Given the description of an element on the screen output the (x, y) to click on. 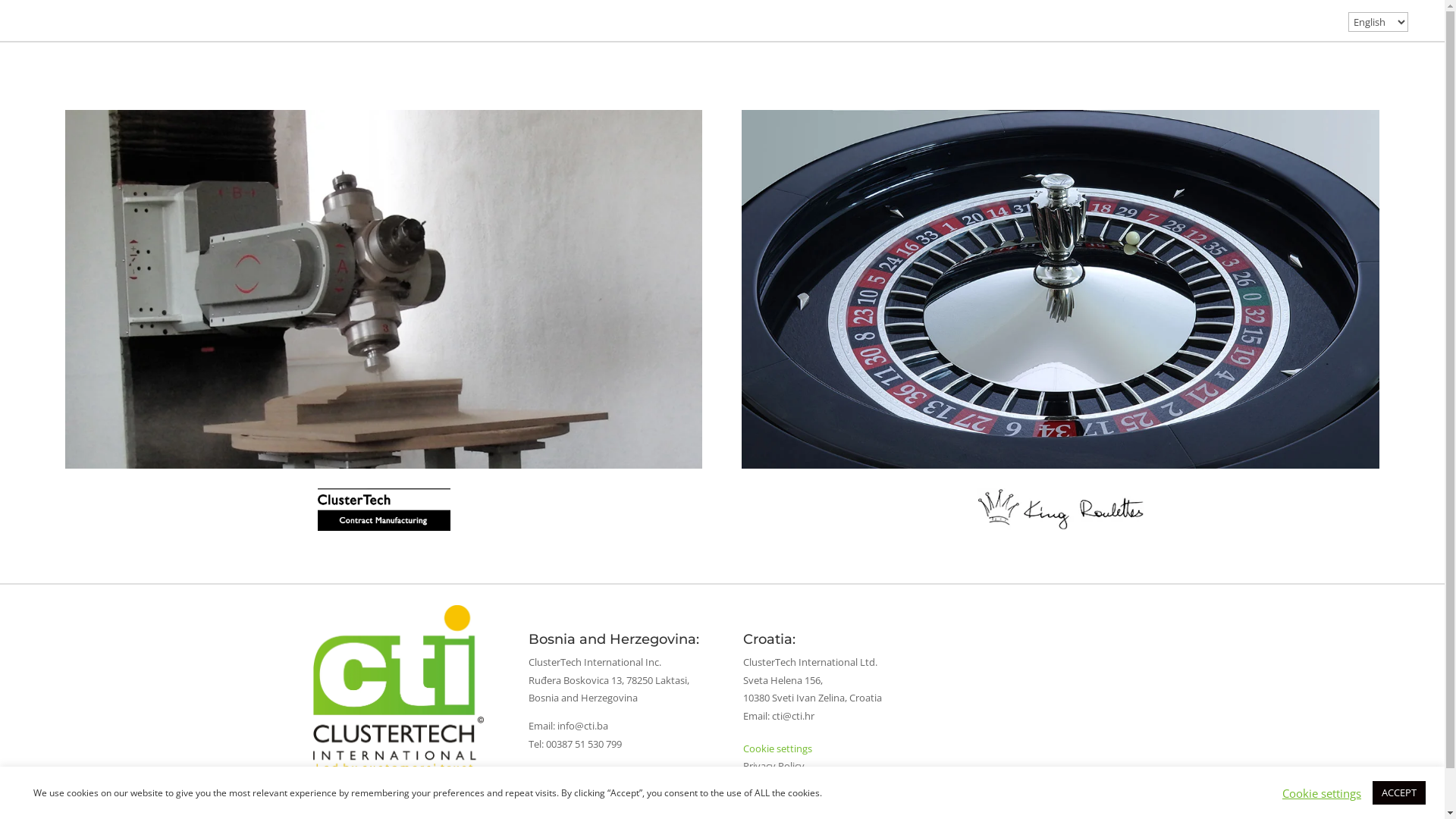
King Roulettes Element type: hover (1060, 509)
Cluster Tech International Element type: hover (397, 688)
Cookie settings Element type: text (777, 748)
CTI Contract Manufacturing Element type: hover (383, 509)
ACCEPT Element type: text (1398, 792)
King Roulettes Element type: hover (1060, 288)
Cookie settings Element type: text (1321, 792)
Privacy Policy Element type: text (773, 765)
